Given the description of an element on the screen output the (x, y) to click on. 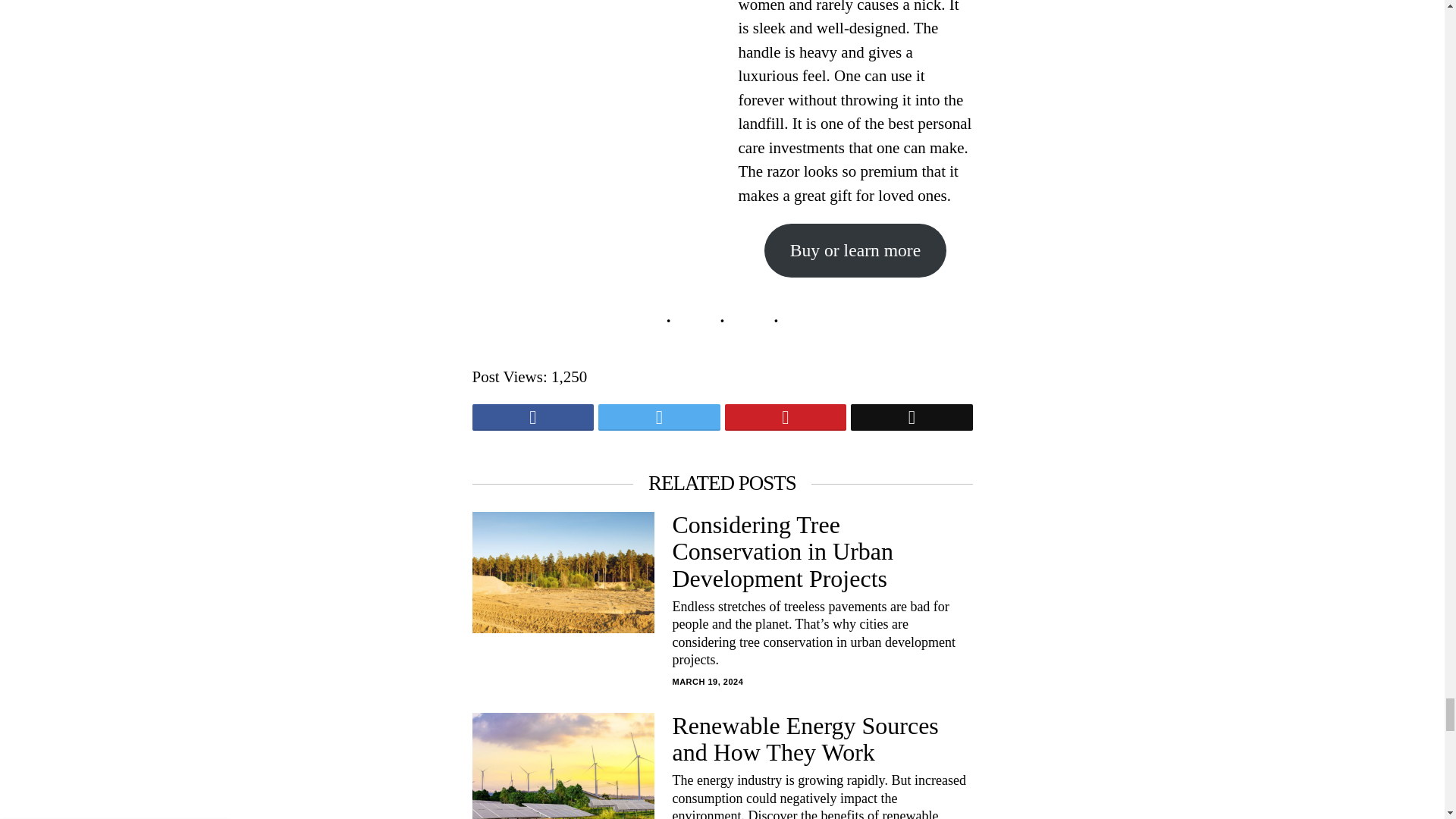
19 Mar, 2024 14:40:20 (706, 681)
